Given the description of an element on the screen output the (x, y) to click on. 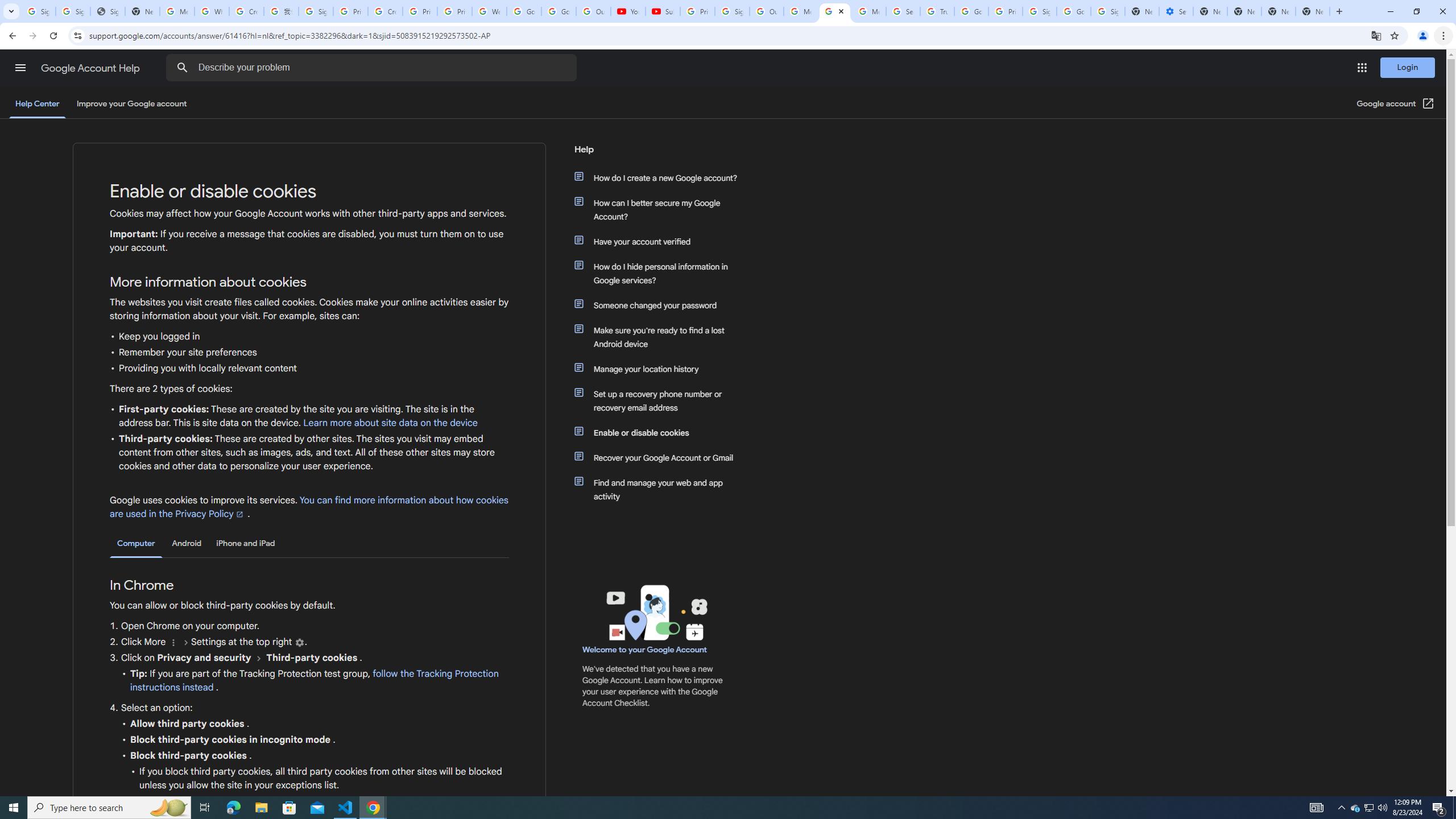
Who is my administrator? - Google Account Help (211, 11)
Sign in - Google Accounts (732, 11)
Someone changed your password (661, 305)
Sign in - Google Accounts (73, 11)
Enable or disable cookies (661, 432)
Describe your problem (373, 67)
Make sure you're ready to find a lost Android device (661, 336)
and then (258, 657)
Sign in - Google Accounts (38, 11)
